Given the description of an element on the screen output the (x, y) to click on. 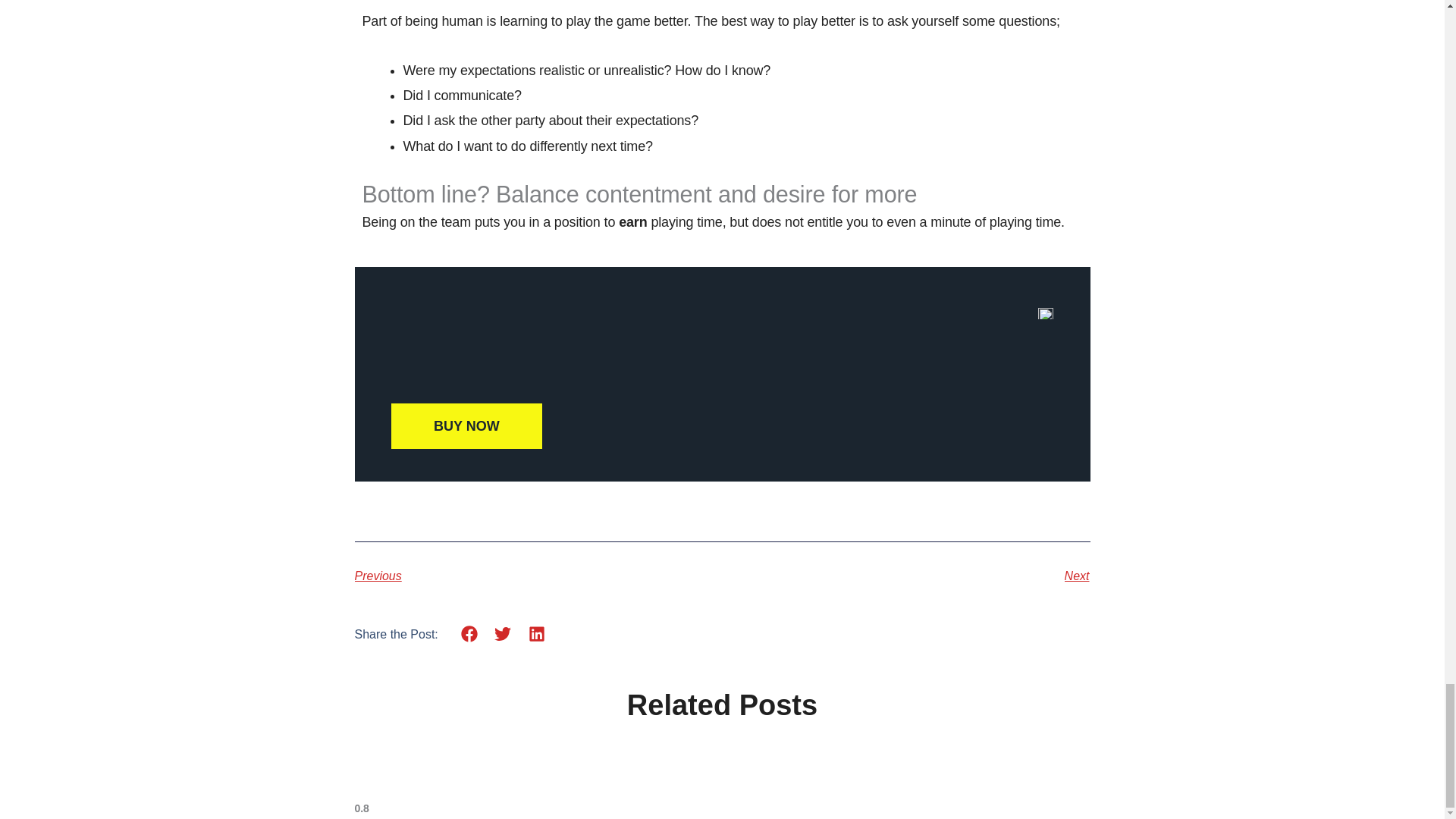
Previous (538, 576)
BUY NOW (466, 425)
Next (905, 576)
